Given the description of an element on the screen output the (x, y) to click on. 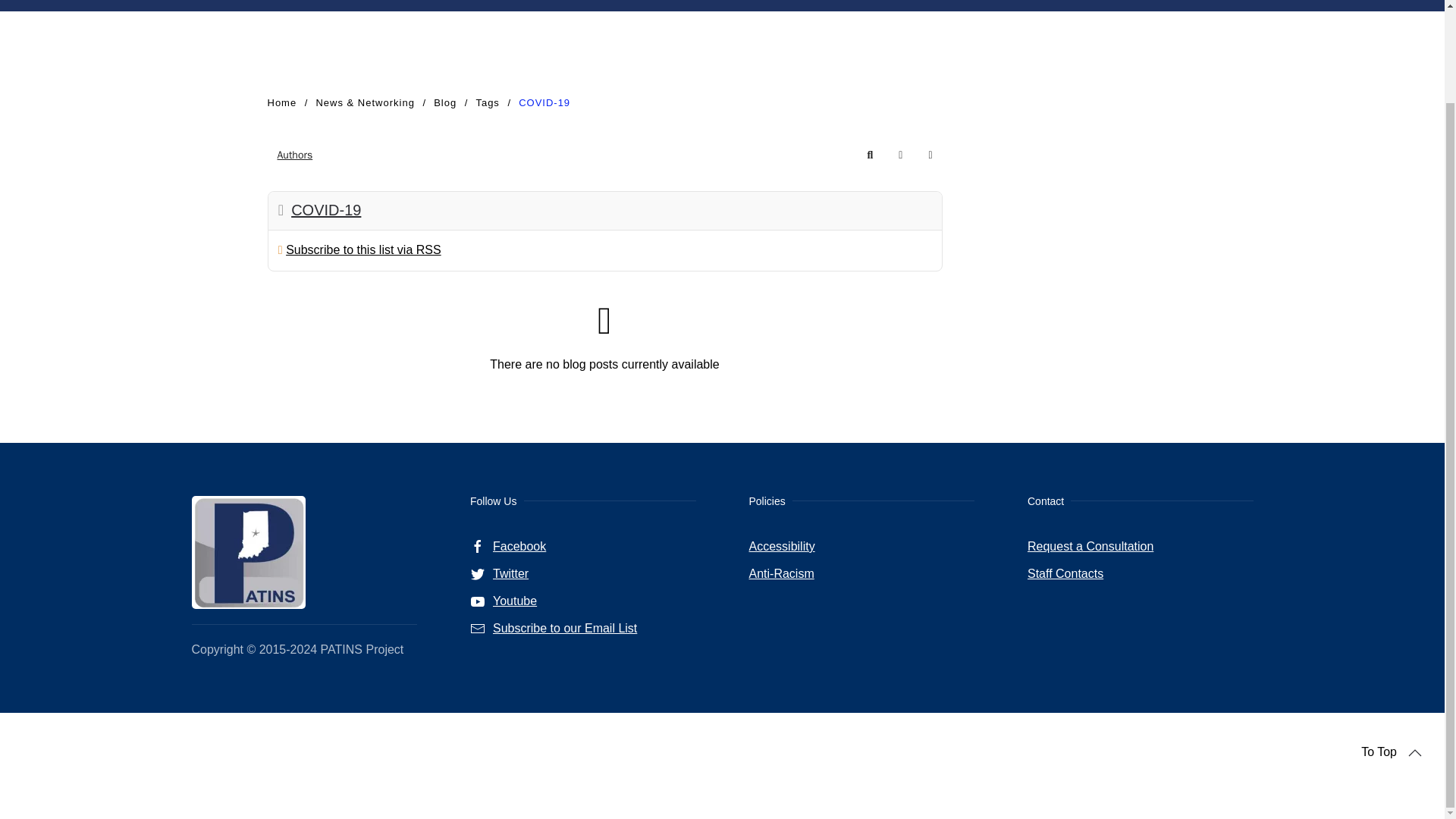
Authors (293, 154)
About (290, 5)
Services (346, 5)
Subscribe to this list via RSS (363, 249)
